Given the description of an element on the screen output the (x, y) to click on. 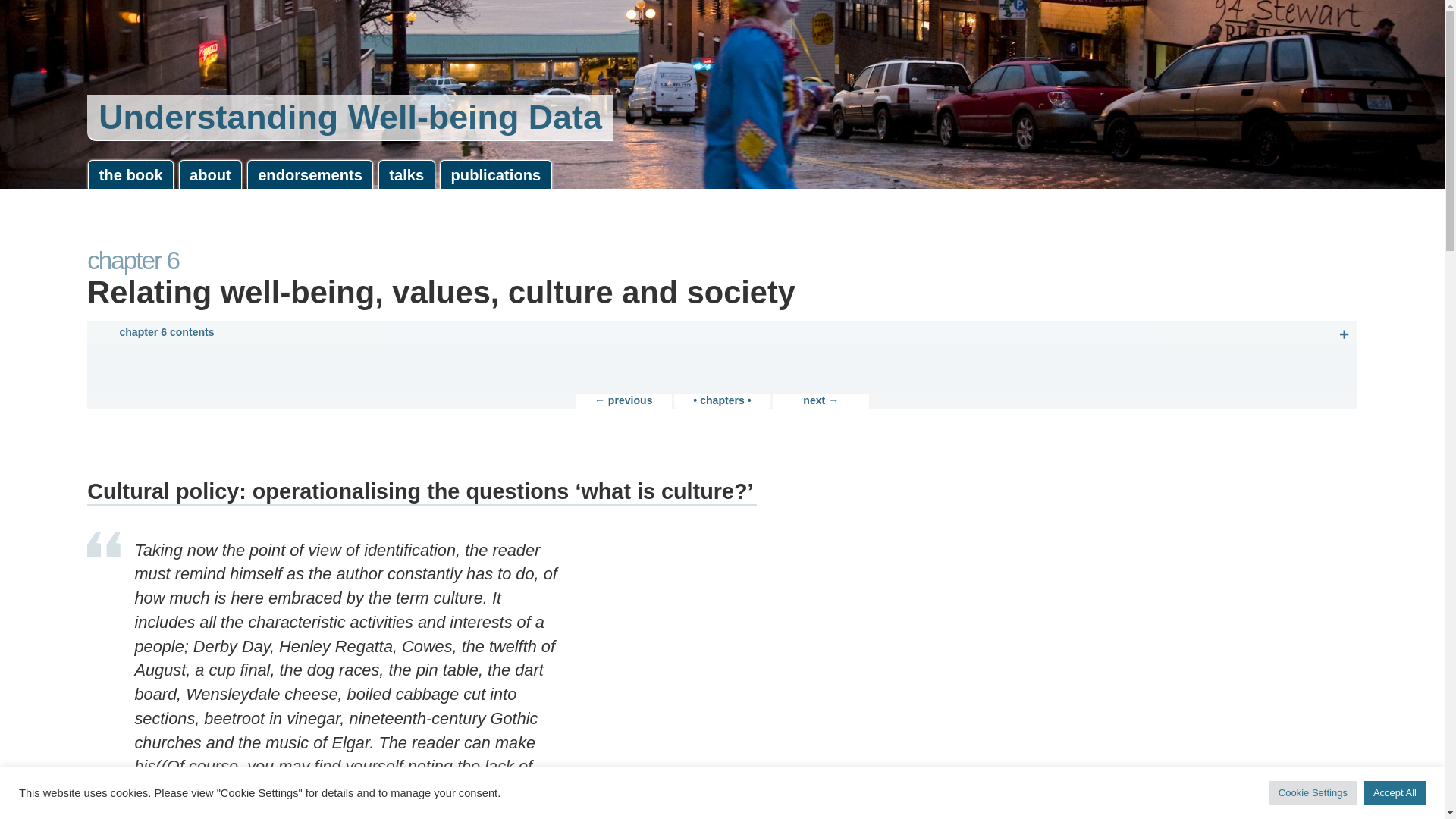
talks (406, 174)
publications (495, 174)
Understanding Well-being Data (349, 117)
the book (130, 174)
about (211, 174)
endorsements (310, 174)
